Given the description of an element on the screen output the (x, y) to click on. 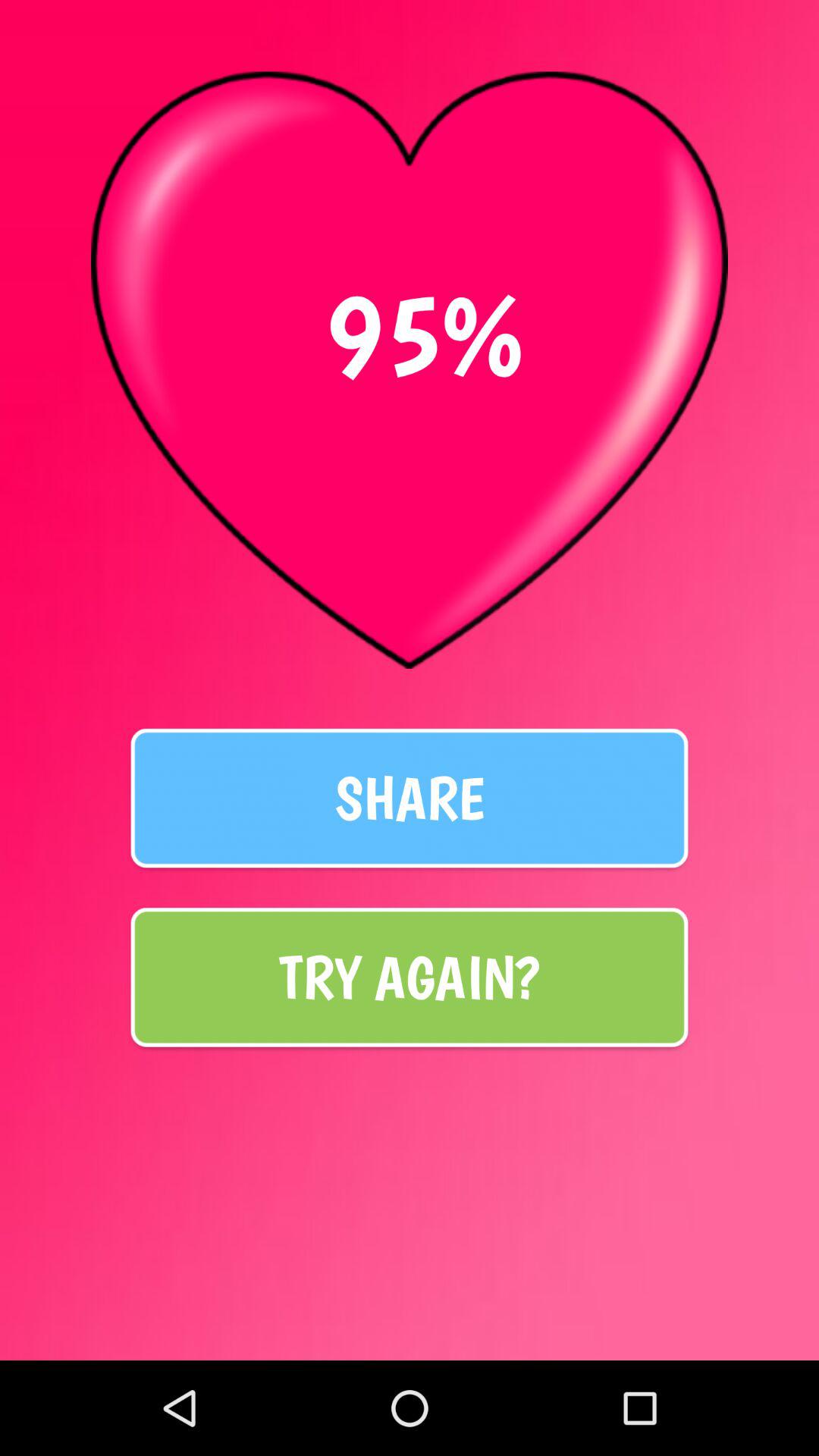
scroll until try again? (409, 977)
